Given the description of an element on the screen output the (x, y) to click on. 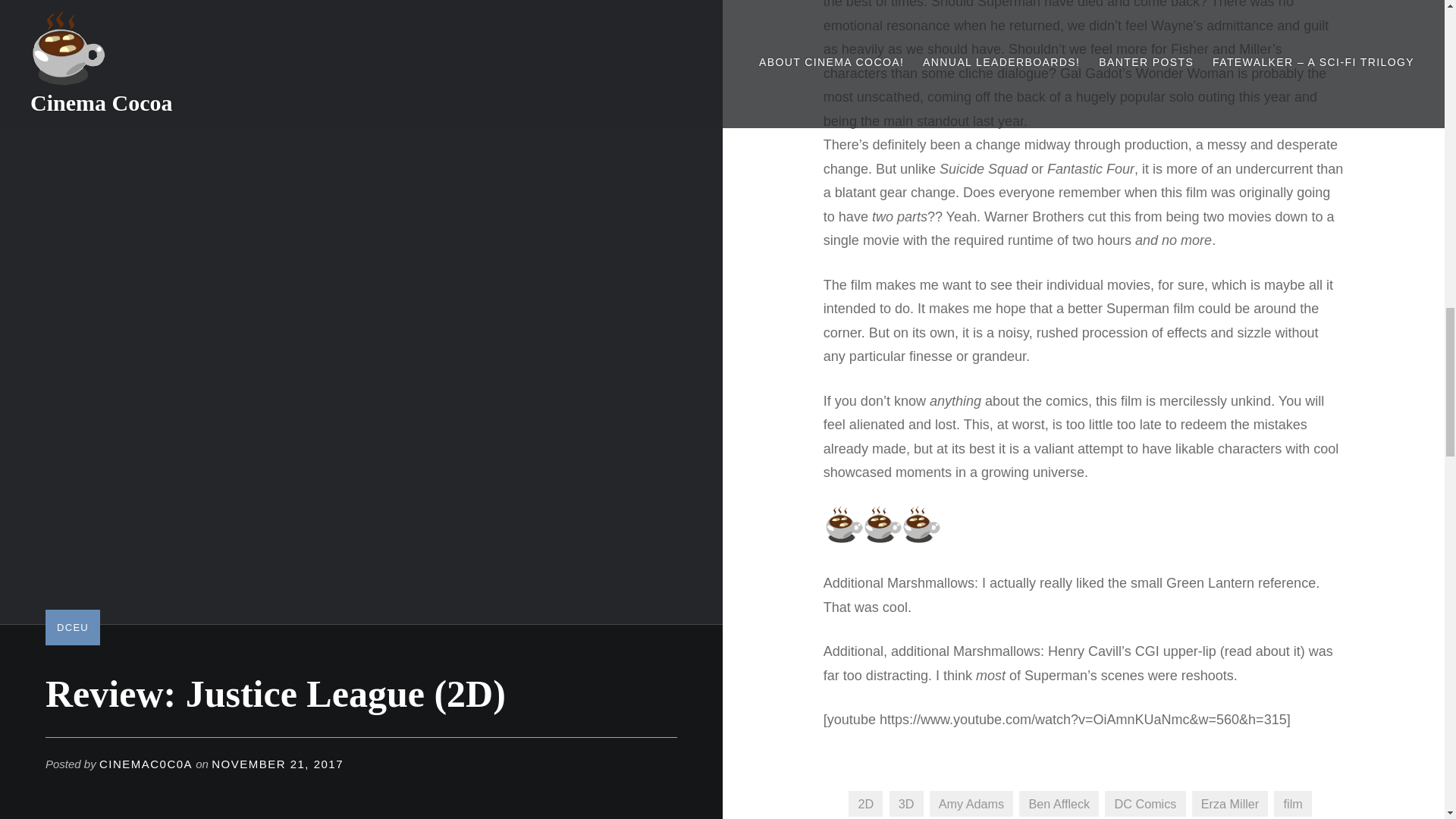
Ben Affleck (1059, 802)
3D (906, 802)
Erza Miller (1230, 802)
film (1292, 802)
Amy Adams (971, 802)
DC Comics (1145, 802)
2D (865, 802)
